Given the description of an element on the screen output the (x, y) to click on. 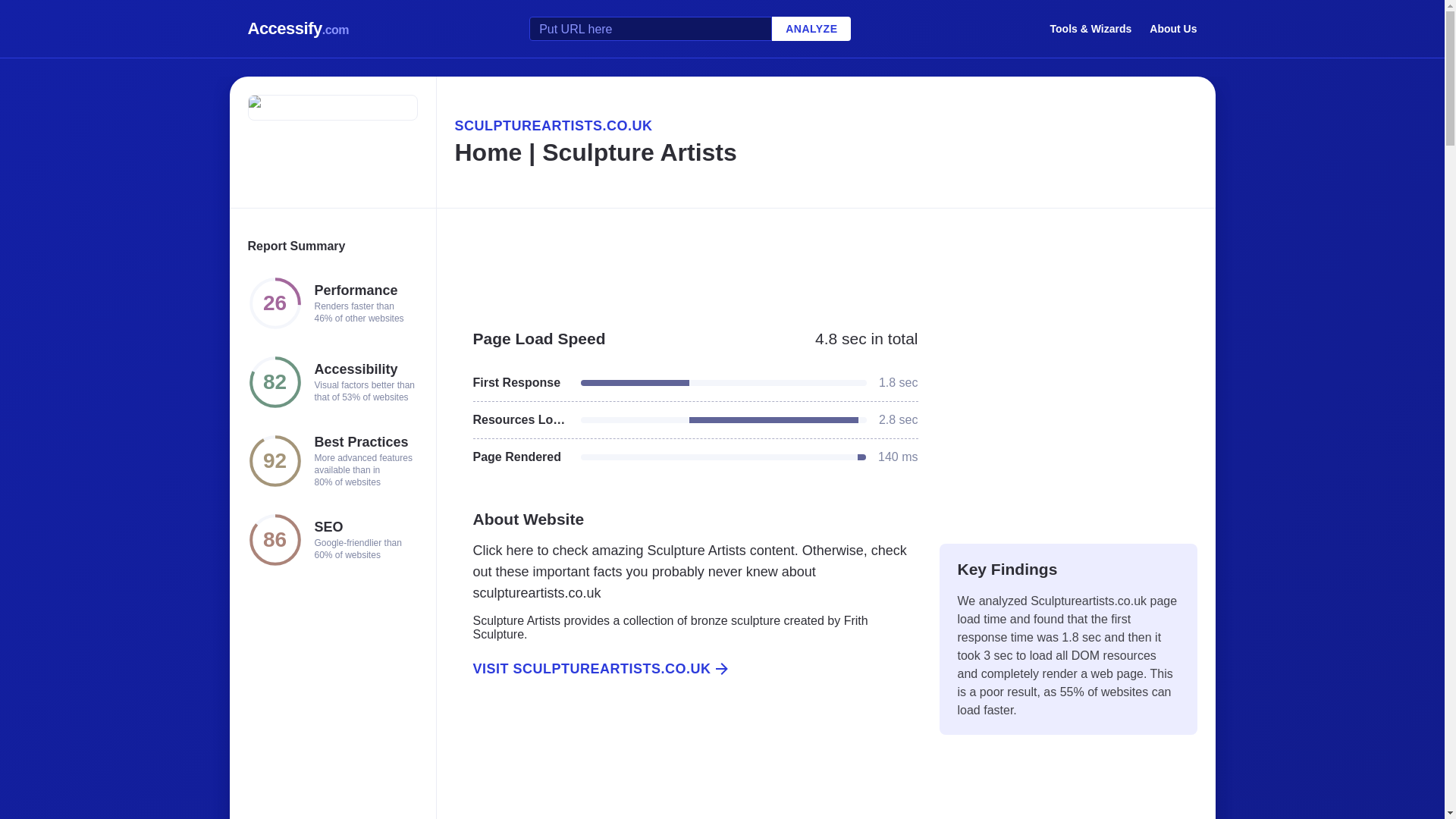
ANALYZE (810, 28)
Accessify.com (298, 28)
VISIT SCULPTUREARTISTS.CO.UK (686, 669)
About Us (1173, 28)
SCULPTUREARTISTS.CO.UK (825, 126)
